Given the description of an element on the screen output the (x, y) to click on. 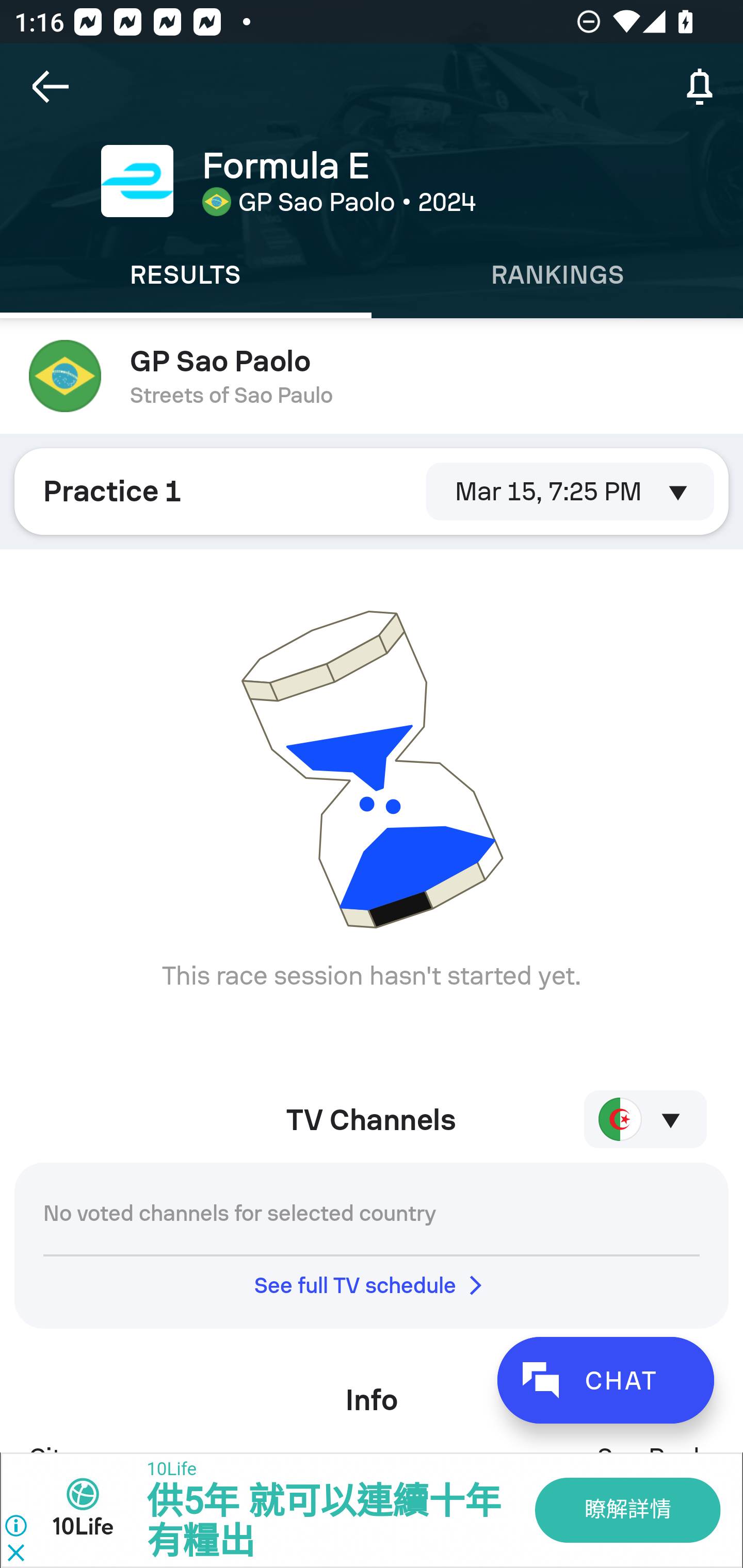
Navigate up (50, 86)
Rankings RANKINGS (557, 275)
Practice 1 Mar 15, 7:25 PM (371, 491)
Mar 15, 7:25 PM (562, 491)
See full TV schedule (371, 1284)
CHAT (605, 1380)
10Life (170, 1469)
deferred-annuity%3Fads%3D0022807 (92, 1509)
瞭解詳情 (626, 1509)
供5年 就可以連續十年 有糧出 供5年 就可以連續十年 有糧出 (323, 1521)
